Given the description of an element on the screen output the (x, y) to click on. 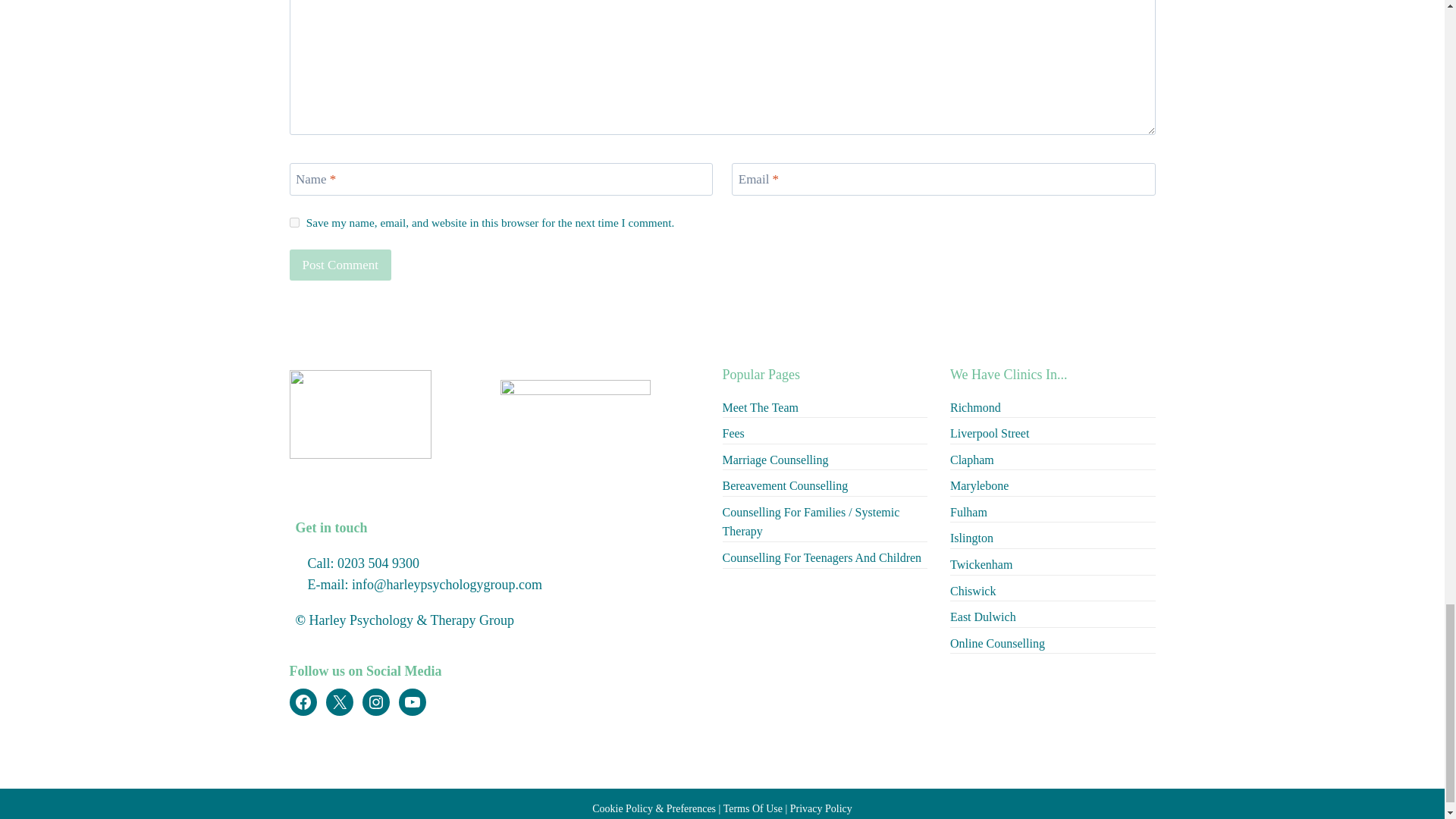
yes (294, 222)
Post Comment (340, 264)
